Given the description of an element on the screen output the (x, y) to click on. 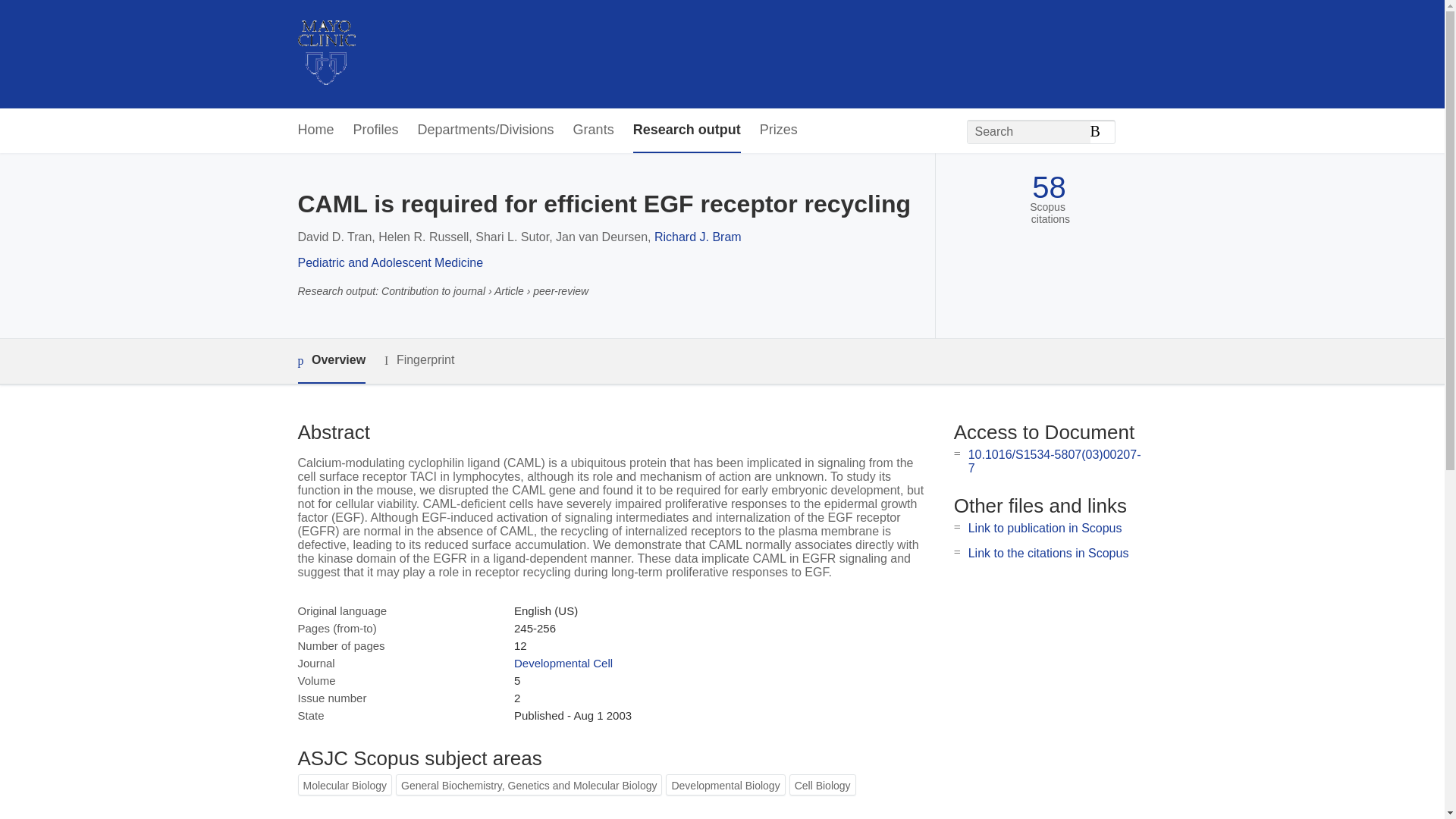
Research output (687, 130)
Link to the citations in Scopus (1048, 553)
Link to publication in Scopus (1045, 527)
Mayo Clinic Home (326, 53)
58 (1048, 187)
Grants (593, 130)
Pediatric and Adolescent Medicine (390, 262)
Fingerprint (419, 360)
Richard J. Bram (697, 236)
Overview (331, 361)
Prizes (778, 130)
Profiles (375, 130)
Home (315, 130)
Developmental Cell (562, 662)
